Given the description of an element on the screen output the (x, y) to click on. 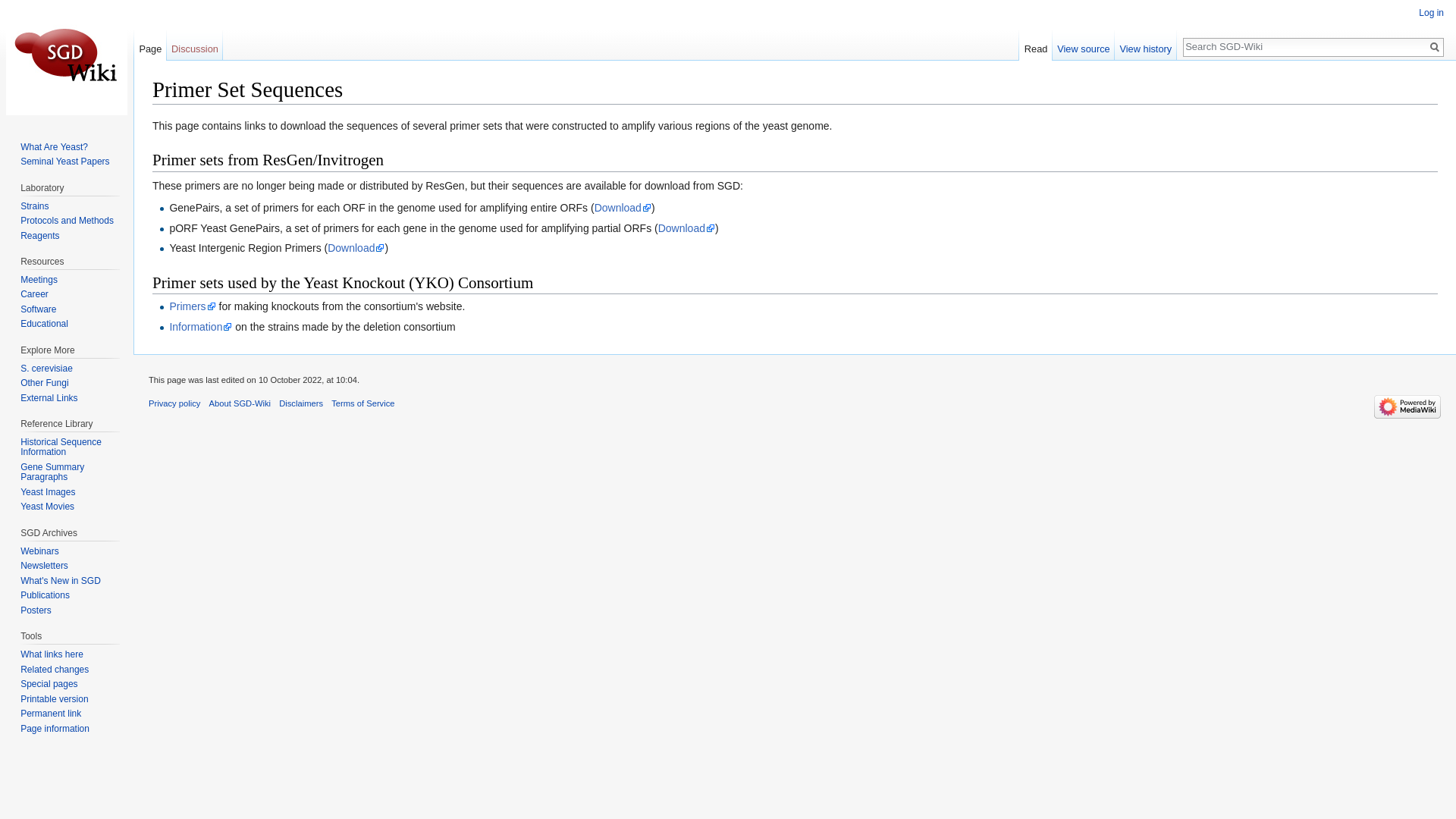
SGD-Wiki:General disclaimer (301, 402)
Newsletters (44, 565)
SGD-Wiki:Privacy policy (174, 402)
SGD-Wiki:About (239, 402)
Page (150, 45)
Go (1434, 46)
Download (622, 207)
Posters (35, 610)
Go (1434, 46)
Information (199, 326)
Other Fungi (44, 382)
Yeast Images (47, 491)
Related changes (54, 669)
Publications (44, 594)
What links here (51, 654)
